Given the description of an element on the screen output the (x, y) to click on. 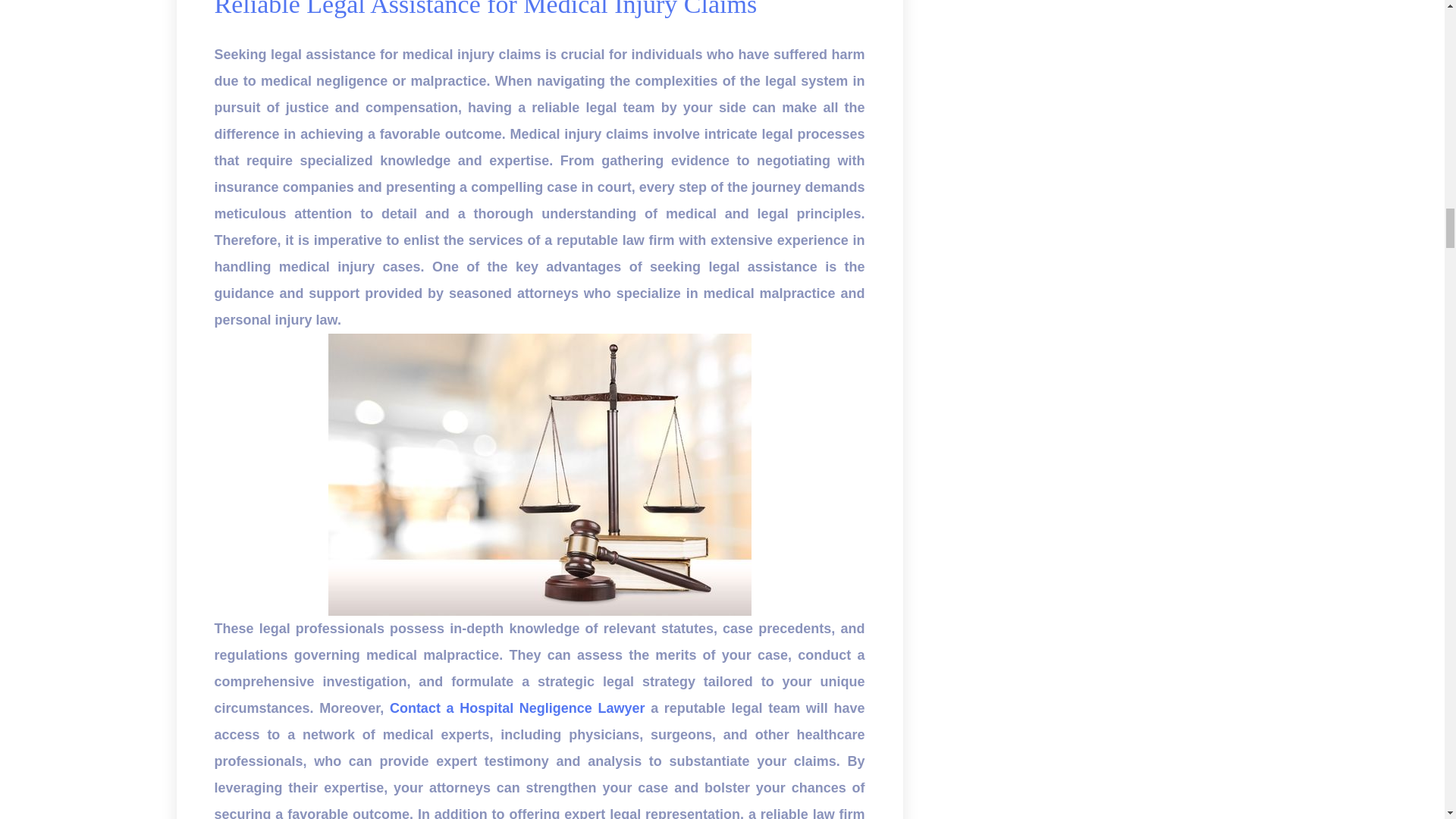
Contact a Hospital Negligence Lawyer (517, 708)
Reliable Legal Assistance for Medical Injury Claims (485, 9)
